Given the description of an element on the screen output the (x, y) to click on. 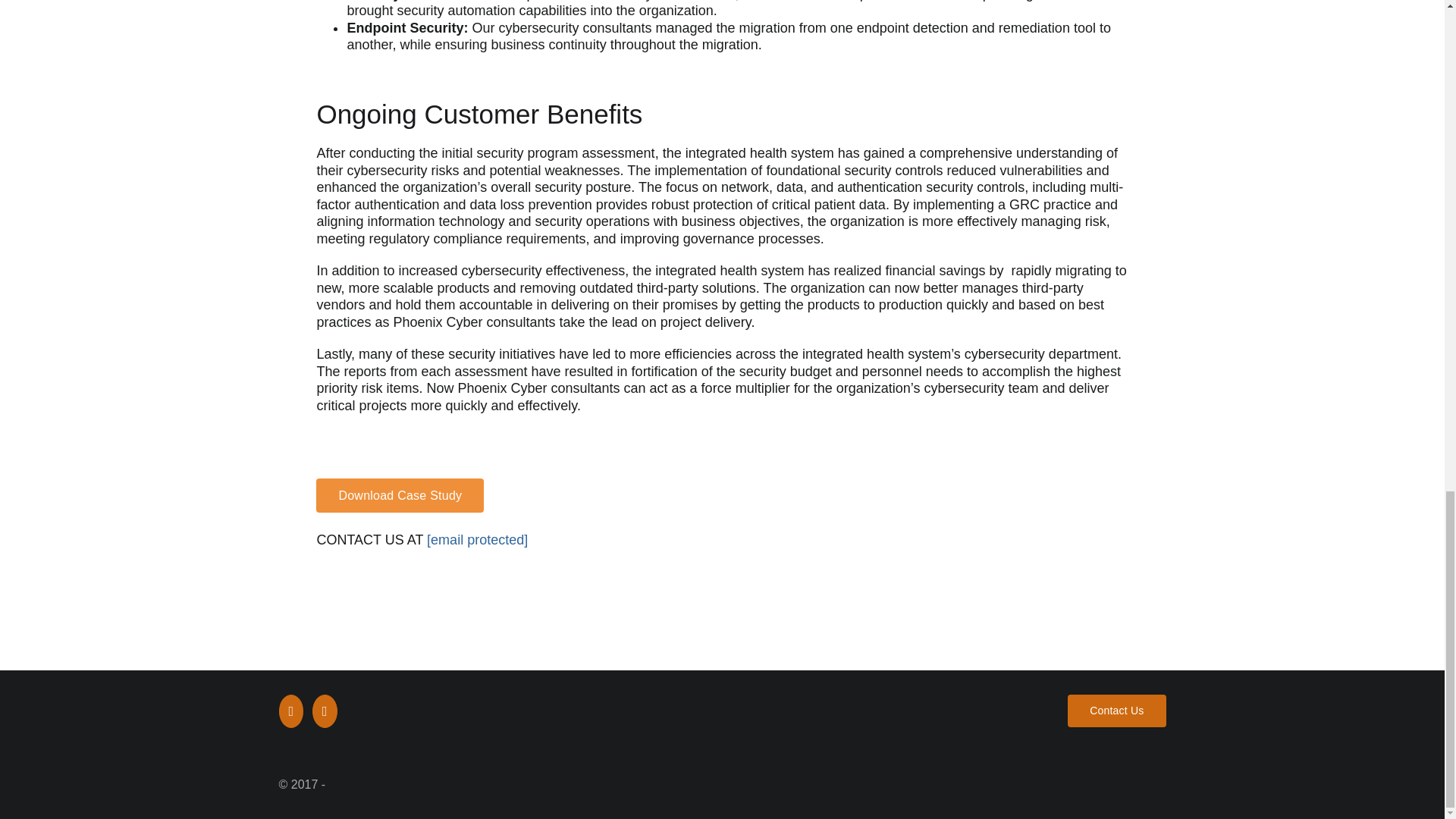
Contact Us (1116, 710)
